Given the description of an element on the screen output the (x, y) to click on. 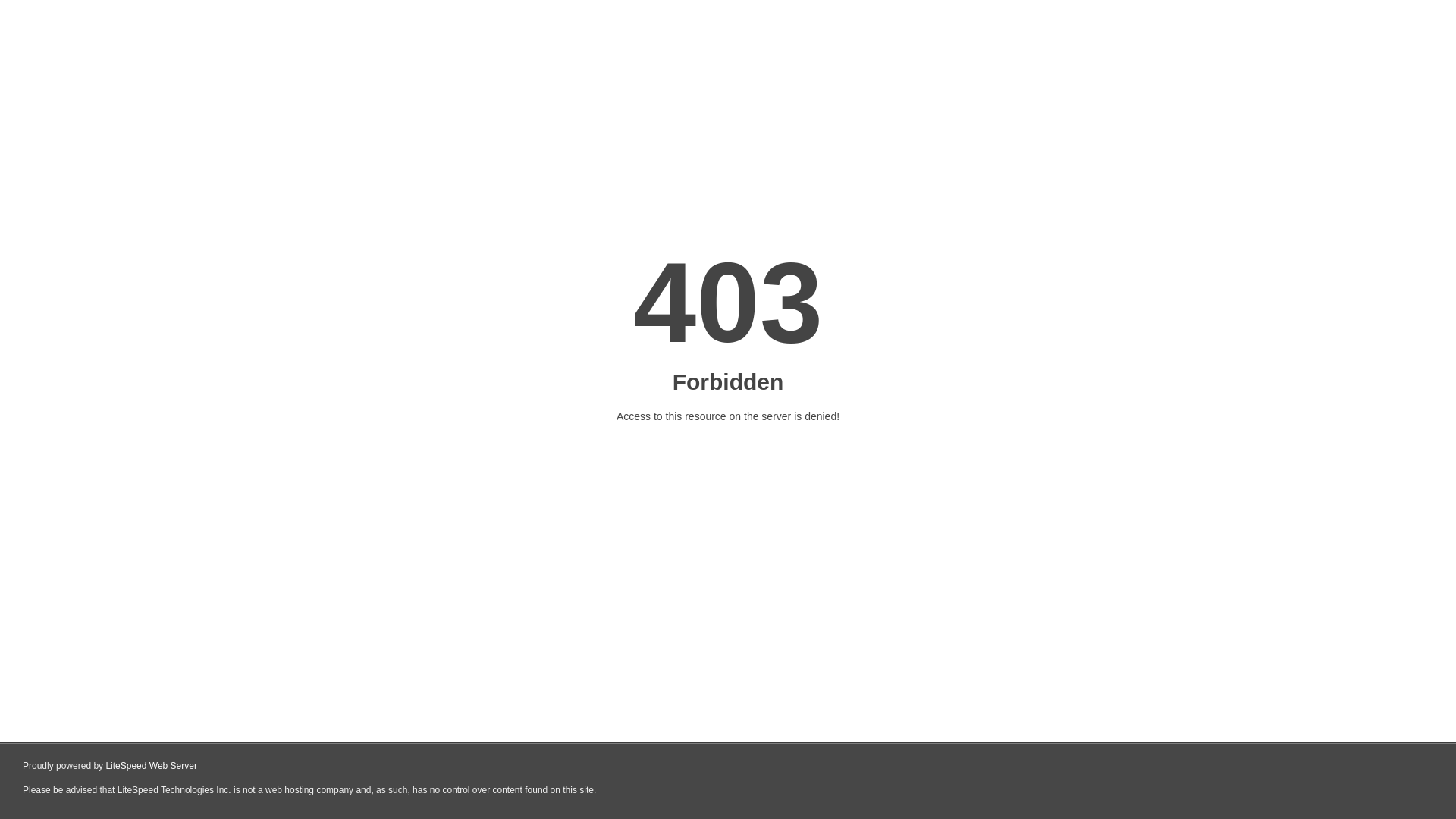
LiteSpeed Web Server Element type: text (151, 765)
